Given the description of an element on the screen output the (x, y) to click on. 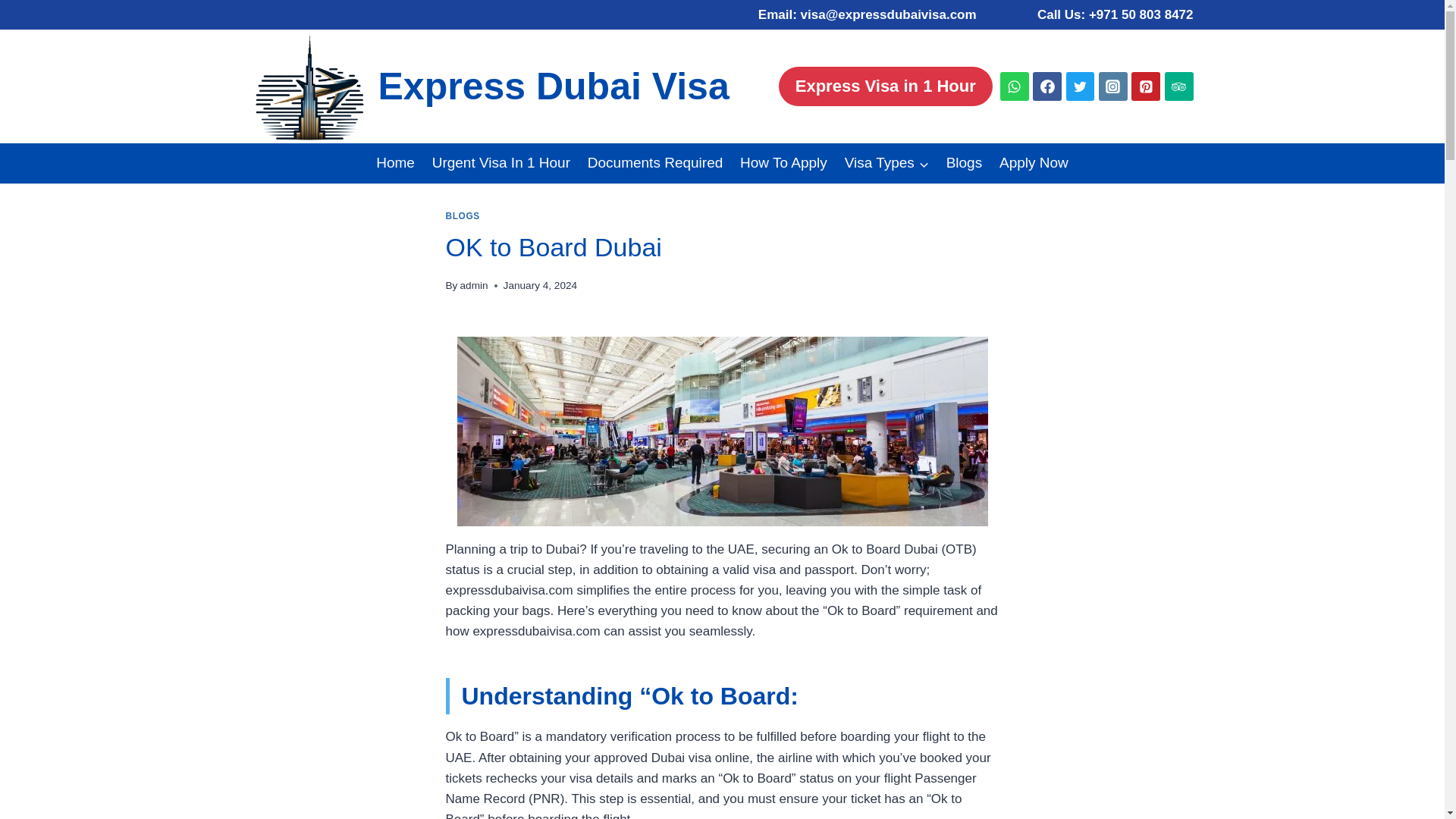
Apply Now (1034, 163)
Documents Required (654, 163)
Home (395, 163)
BLOGS (462, 215)
Express Dubai Visa (490, 86)
Express Visa in 1 Hour (885, 86)
Urgent Visa In 1 Hour (500, 163)
admin (473, 285)
Visa Types (886, 163)
Blogs (963, 163)
